Given the description of an element on the screen output the (x, y) to click on. 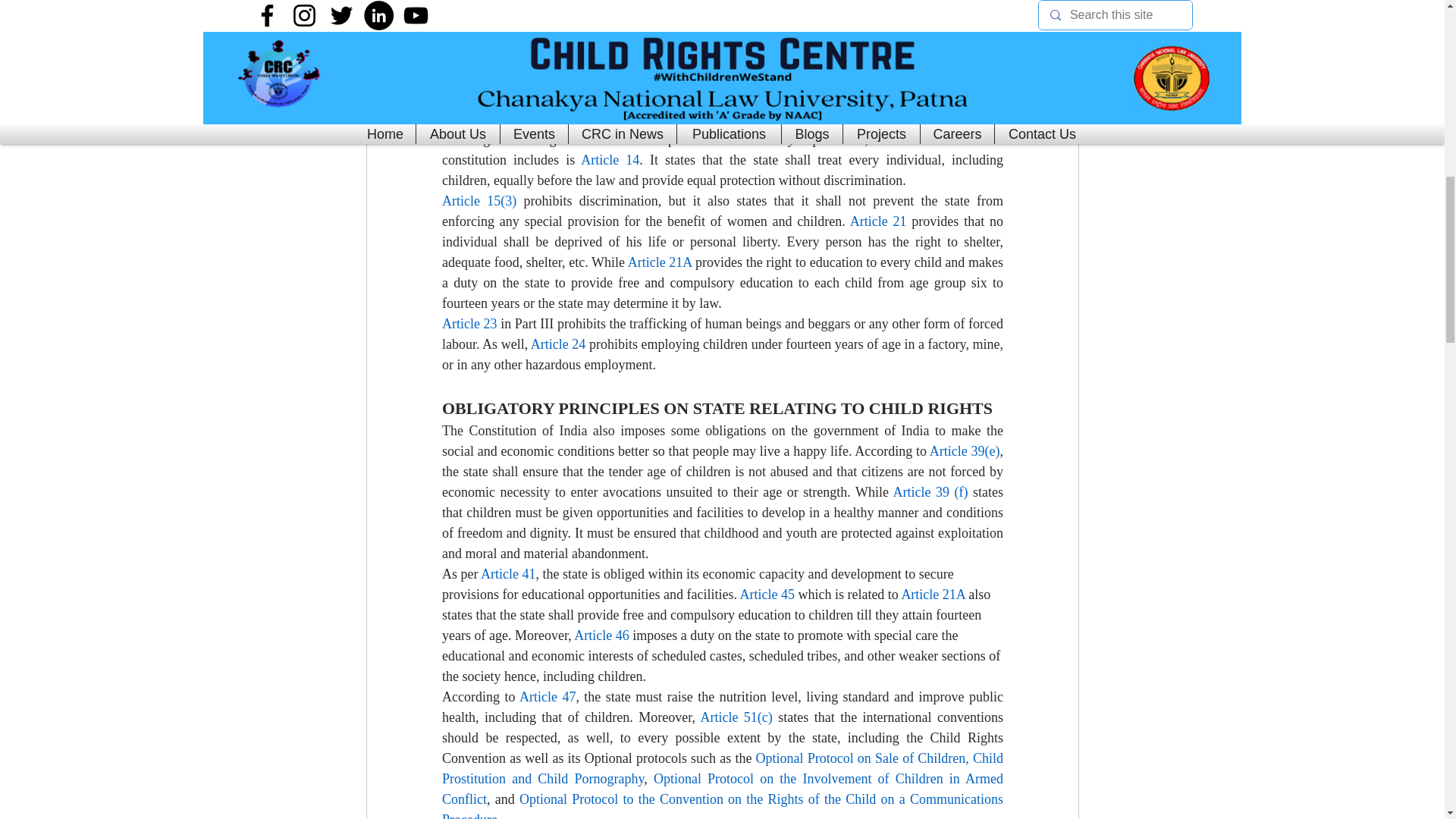
Article 41 (507, 573)
Article 21A (659, 262)
Article 45 (766, 594)
Article 14 (609, 159)
Article 47 (546, 696)
Article 21A (932, 594)
Article 21 (876, 221)
Article 46 (600, 635)
Article 24 (557, 344)
Article 23 (468, 323)
